Given the description of an element on the screen output the (x, y) to click on. 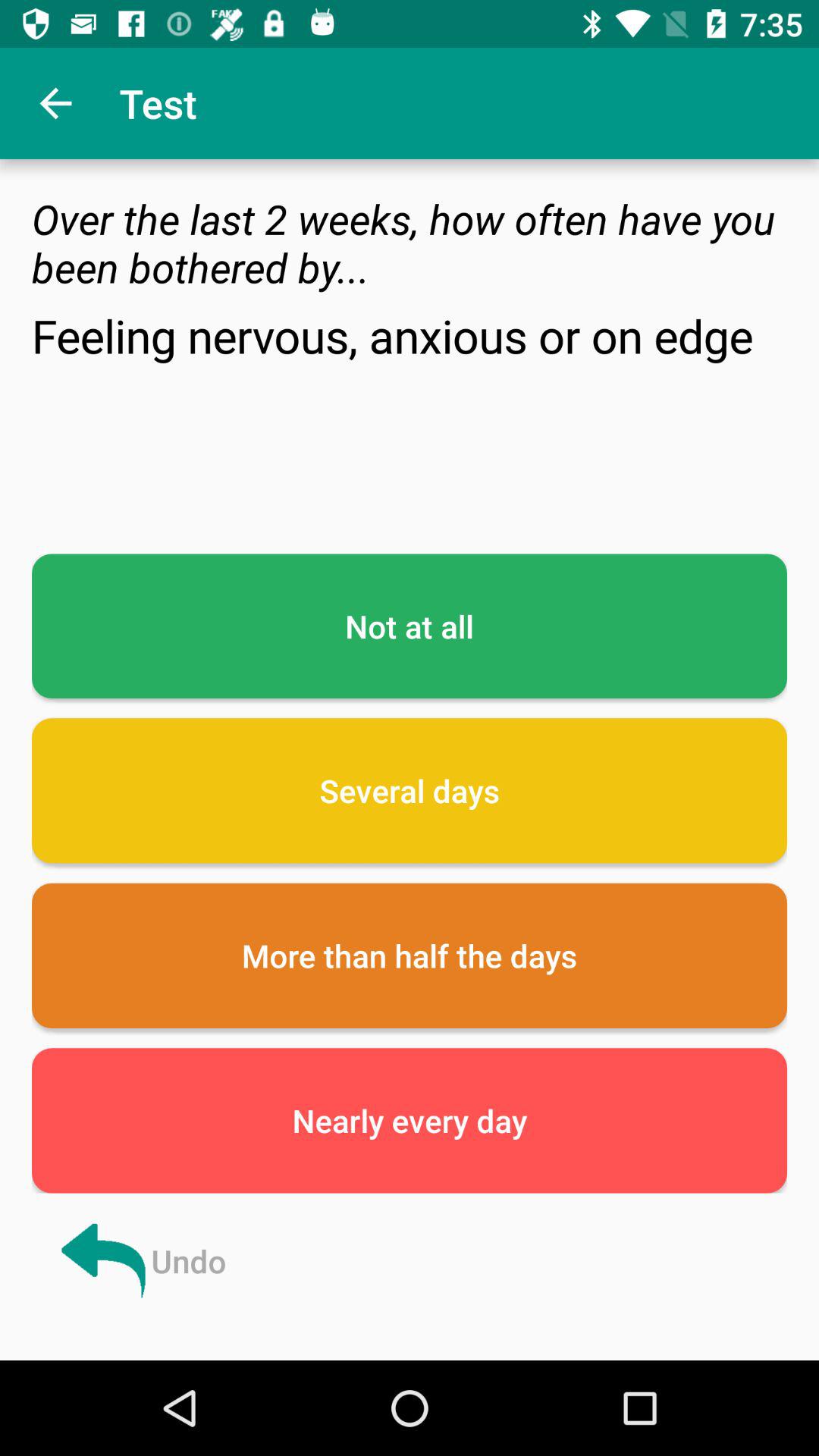
jump until several days (409, 790)
